Given the description of an element on the screen output the (x, y) to click on. 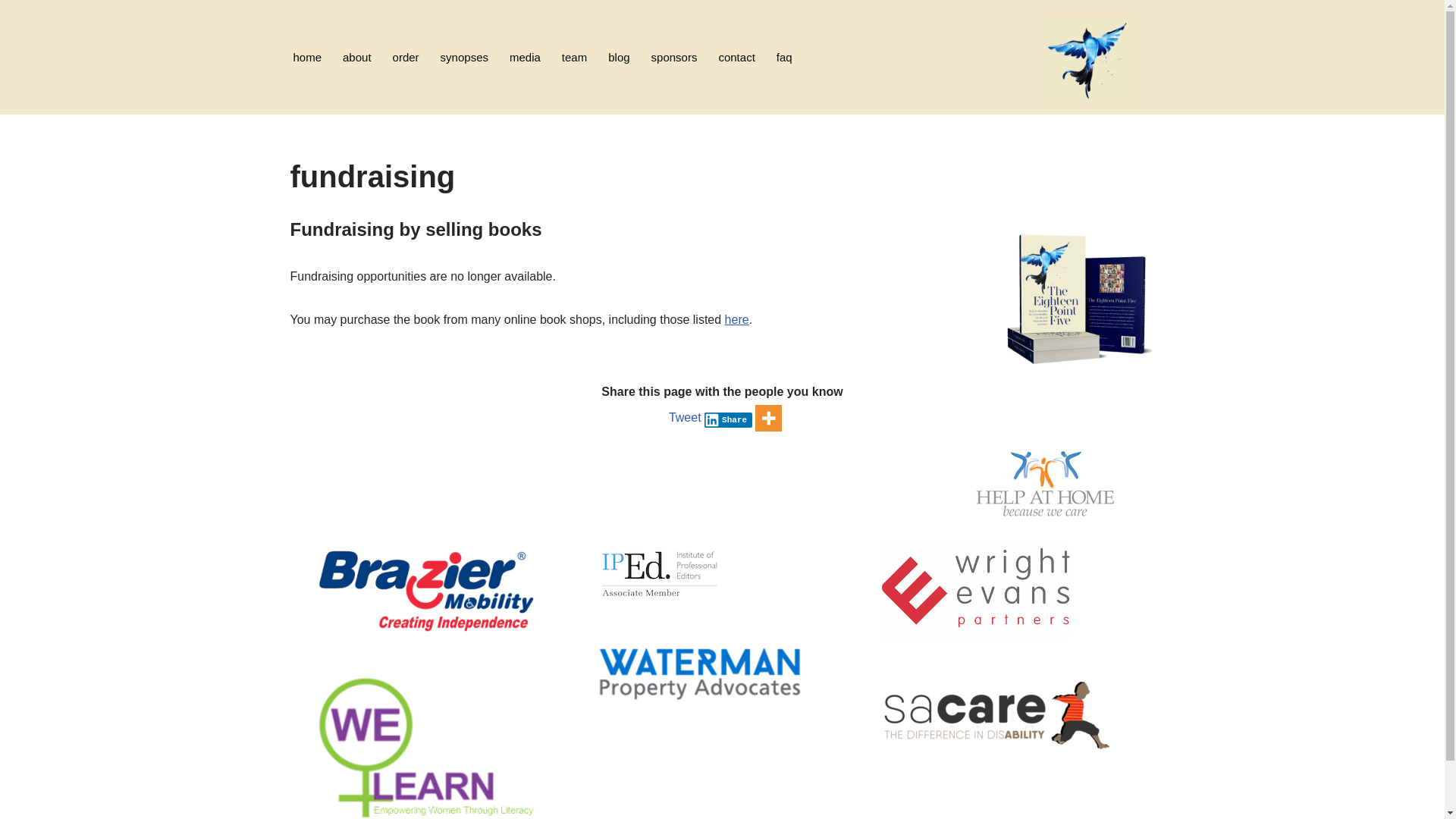
Share Element type: text (728, 417)
contact Element type: text (736, 56)
More Element type: hover (768, 417)
Share Element type: text (728, 419)
sponsors Element type: text (674, 56)
team Element type: text (573, 56)
order Element type: text (405, 56)
Tweet Element type: text (684, 417)
blog Element type: text (618, 56)
synopses Element type: text (464, 56)
media Element type: text (524, 56)
about Element type: text (356, 56)
here Element type: text (736, 319)
home Element type: text (306, 56)
faq Element type: text (784, 56)
Skip to content Element type: text (11, 31)
